Given the description of an element on the screen output the (x, y) to click on. 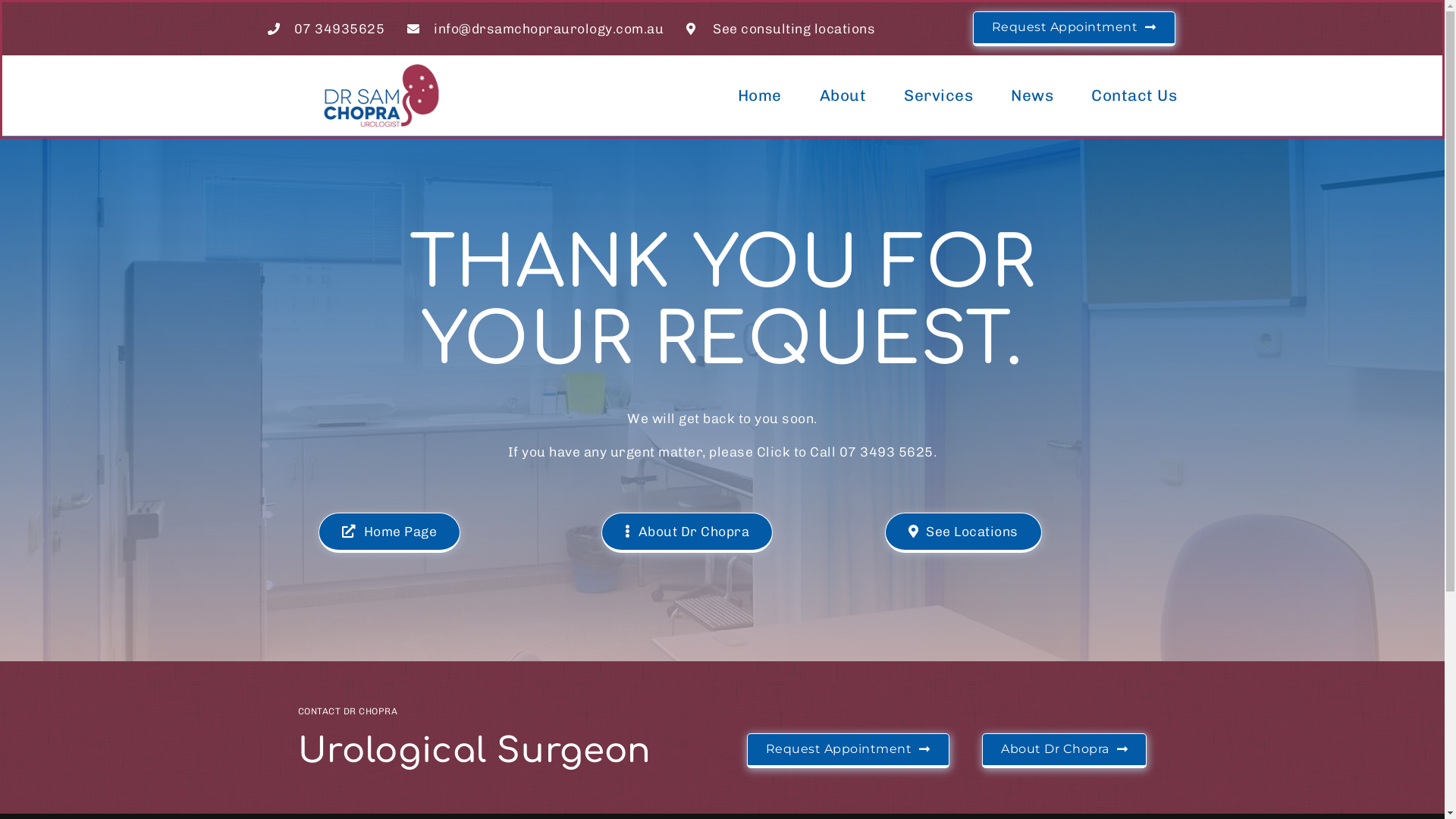
Services Element type: text (937, 95)
Contact Us Element type: text (1133, 95)
About Dr Chopra Element type: text (1064, 750)
See consulting locations Element type: text (780, 28)
Home Page Element type: text (389, 532)
07 34935625 Element type: text (325, 28)
About Element type: text (842, 95)
Request Appointment Element type: text (847, 750)
Home Element type: text (759, 95)
info@drsamchopraurology.com.au Element type: text (535, 28)
Click to Call 07 3493 5625 Element type: text (844, 451)
About Dr Chopra Element type: text (686, 532)
News Element type: text (1031, 95)
See Locations Element type: text (962, 532)
Request Appointment Element type: text (1073, 28)
